Given the description of an element on the screen output the (x, y) to click on. 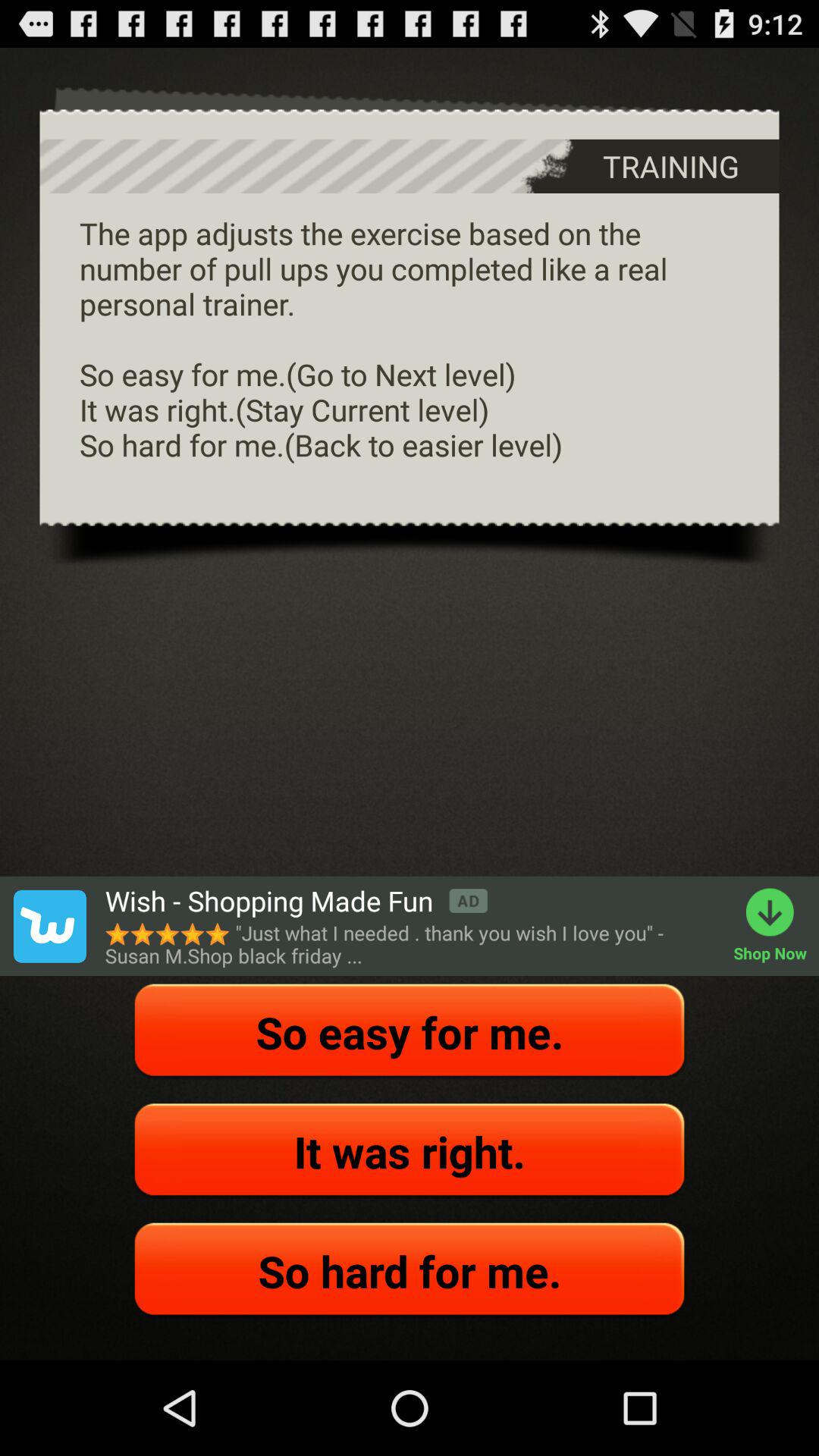
tap the item on the left (49, 925)
